Given the description of an element on the screen output the (x, y) to click on. 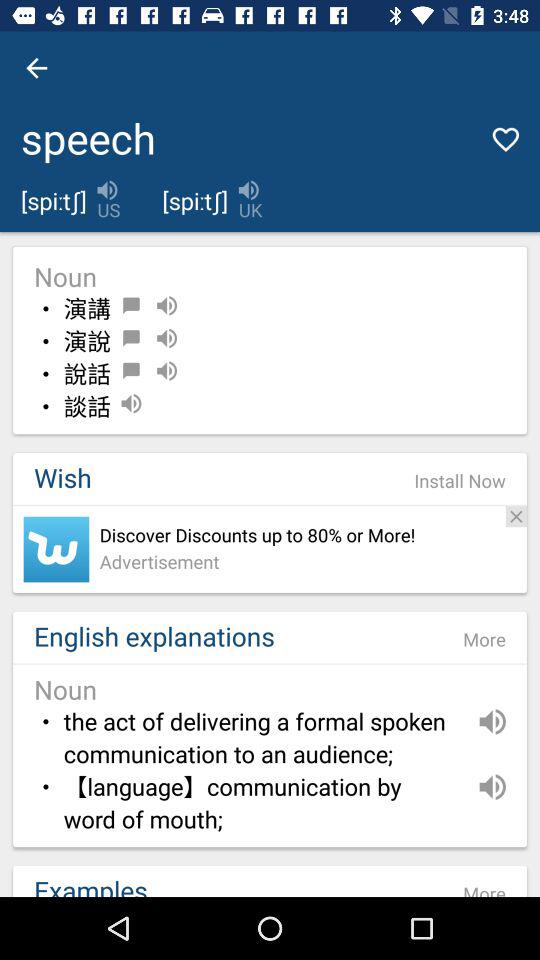
select icon above the speech item (36, 68)
